Given the description of an element on the screen output the (x, y) to click on. 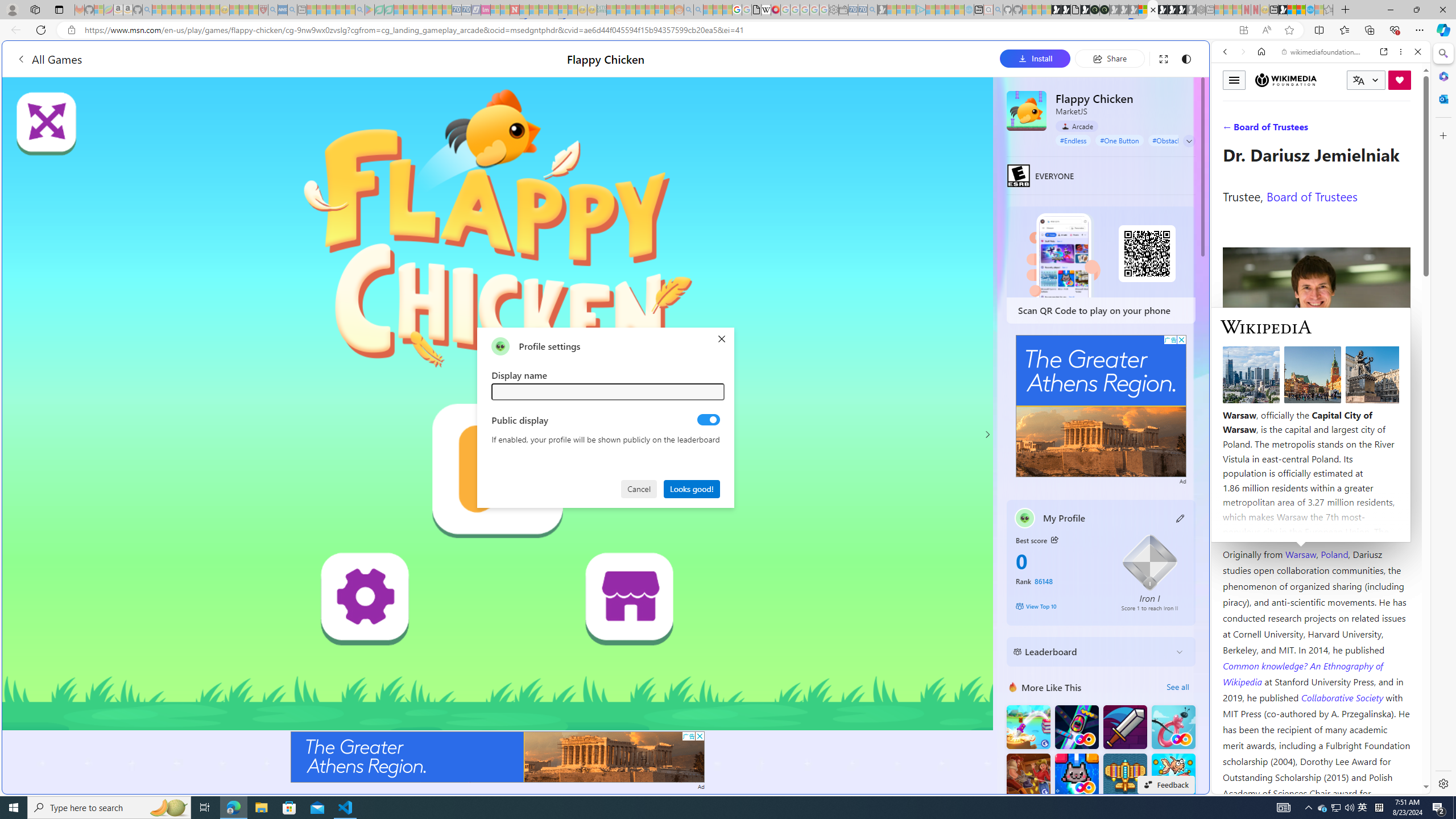
Close Customize pane (1442, 135)
Change to dark mode (1185, 58)
Preferences (1403, 129)
Terms of Use Agreement - Sleeping (378, 9)
Board of Trustees (1311, 195)
Wikimedia Foundation (1285, 79)
Search Filter, Search Tools (1350, 129)
Fish Merge FRVR (1173, 775)
MSN (1283, 9)
WEB   (1230, 130)
Search Filter, IMAGES (1262, 129)
14 Common Myths Debunked By Scientific Facts - Sleeping (533, 9)
